Given the description of an element on the screen output the (x, y) to click on. 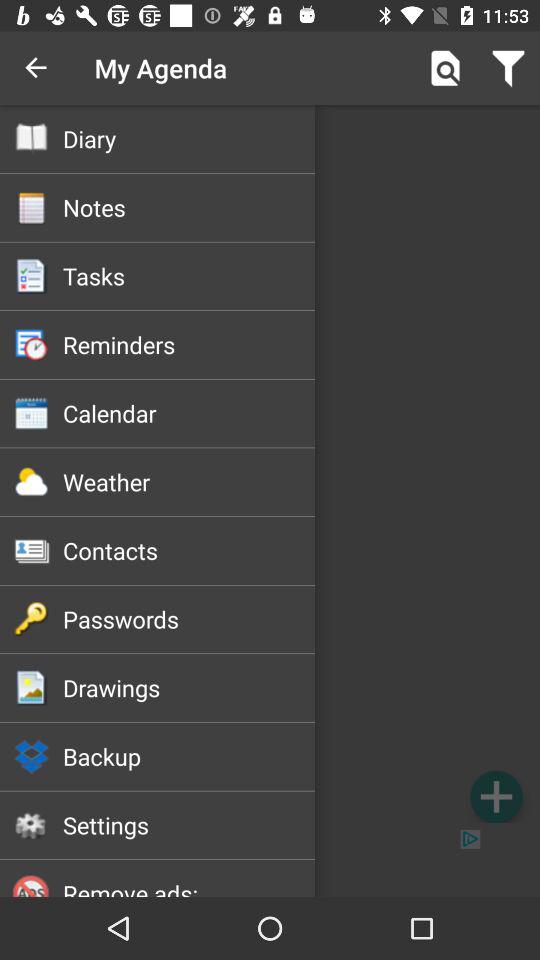
flip to the notes icon (188, 207)
